Given the description of an element on the screen output the (x, y) to click on. 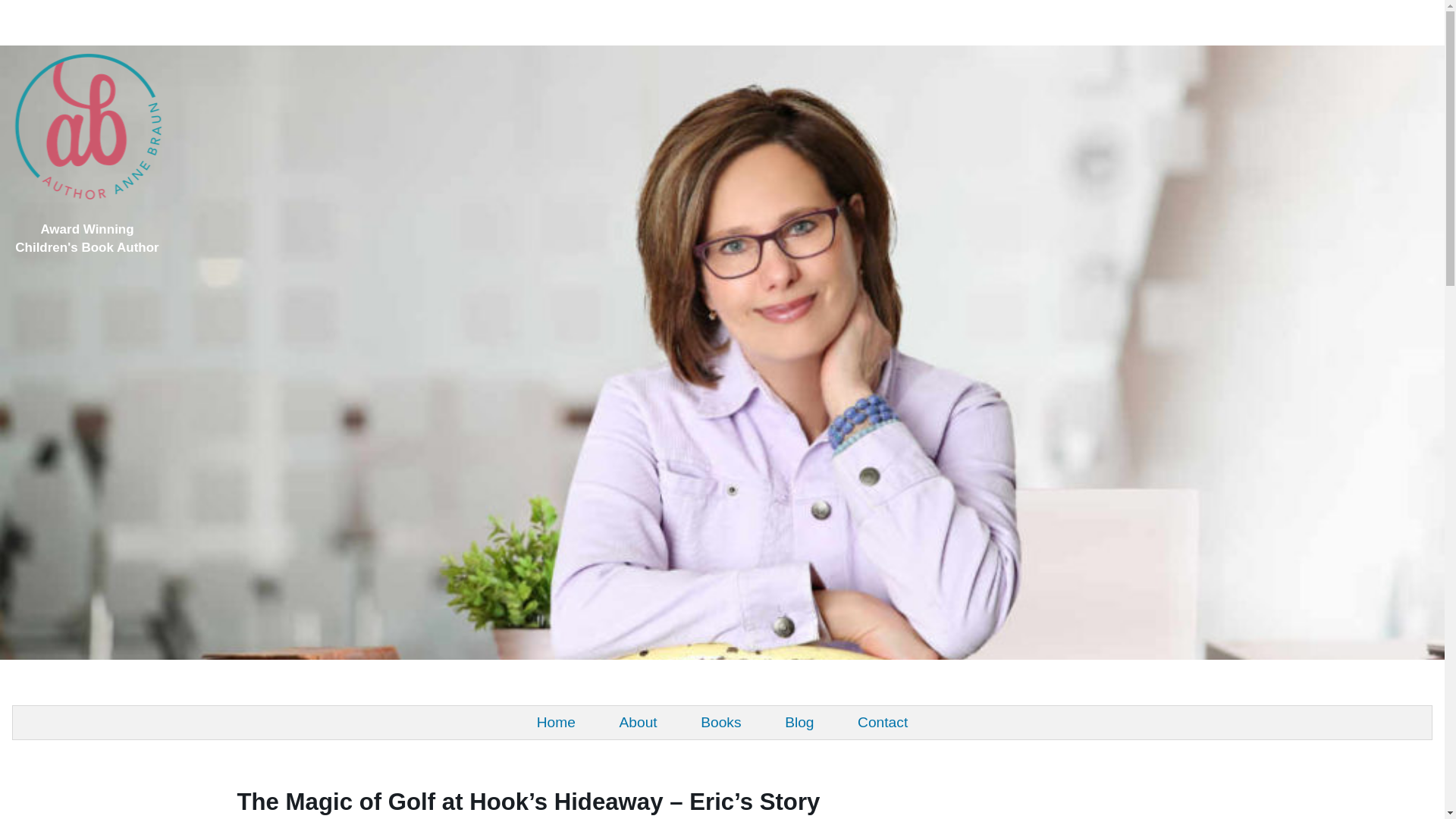
About (637, 723)
Books (721, 723)
Home (555, 723)
Blog (799, 723)
Contact (882, 723)
